Given the description of an element on the screen output the (x, y) to click on. 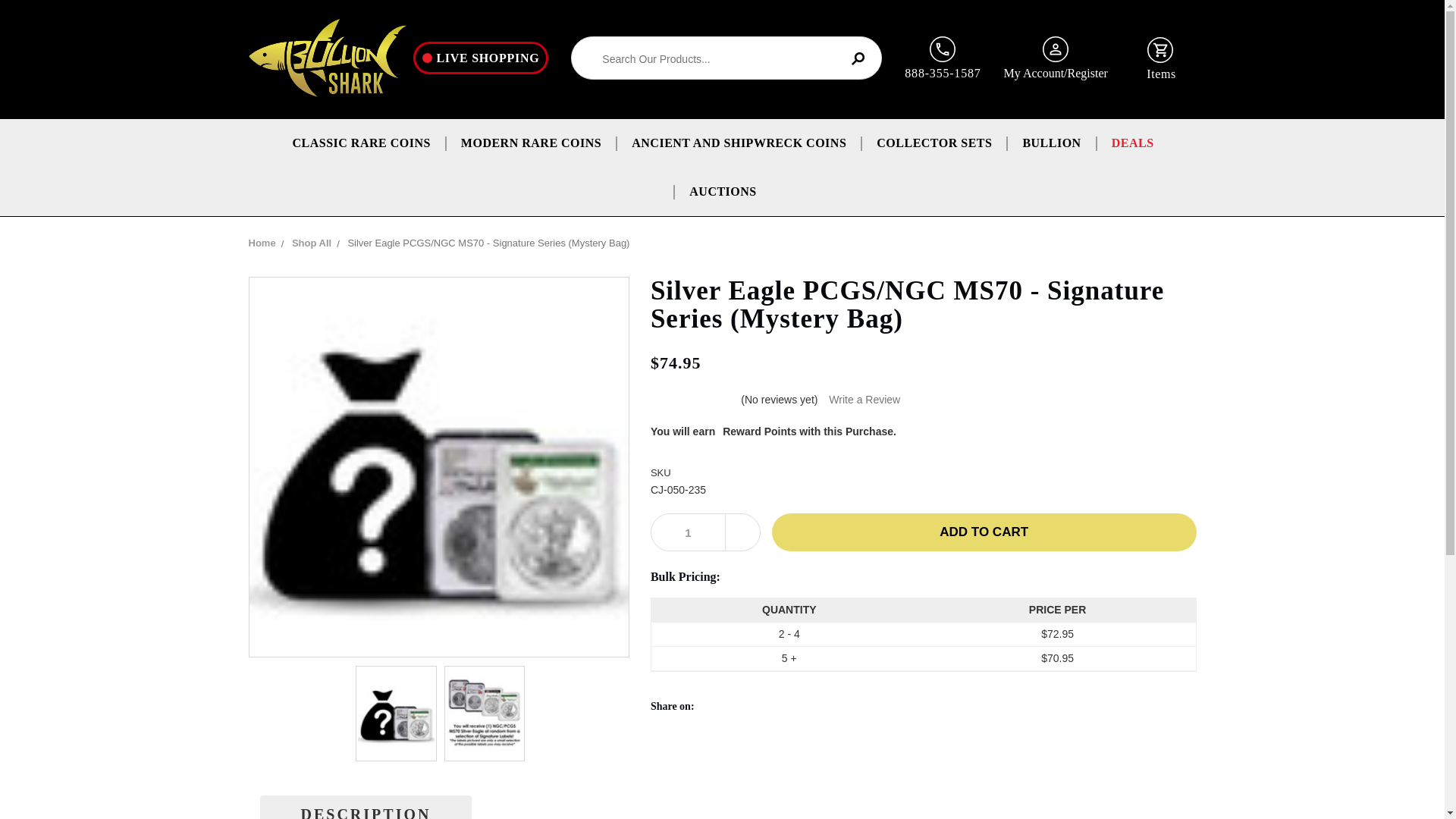
Search (857, 58)
1 (687, 532)
Add to Cart (983, 532)
Search (857, 58)
